Given the description of an element on the screen output the (x, y) to click on. 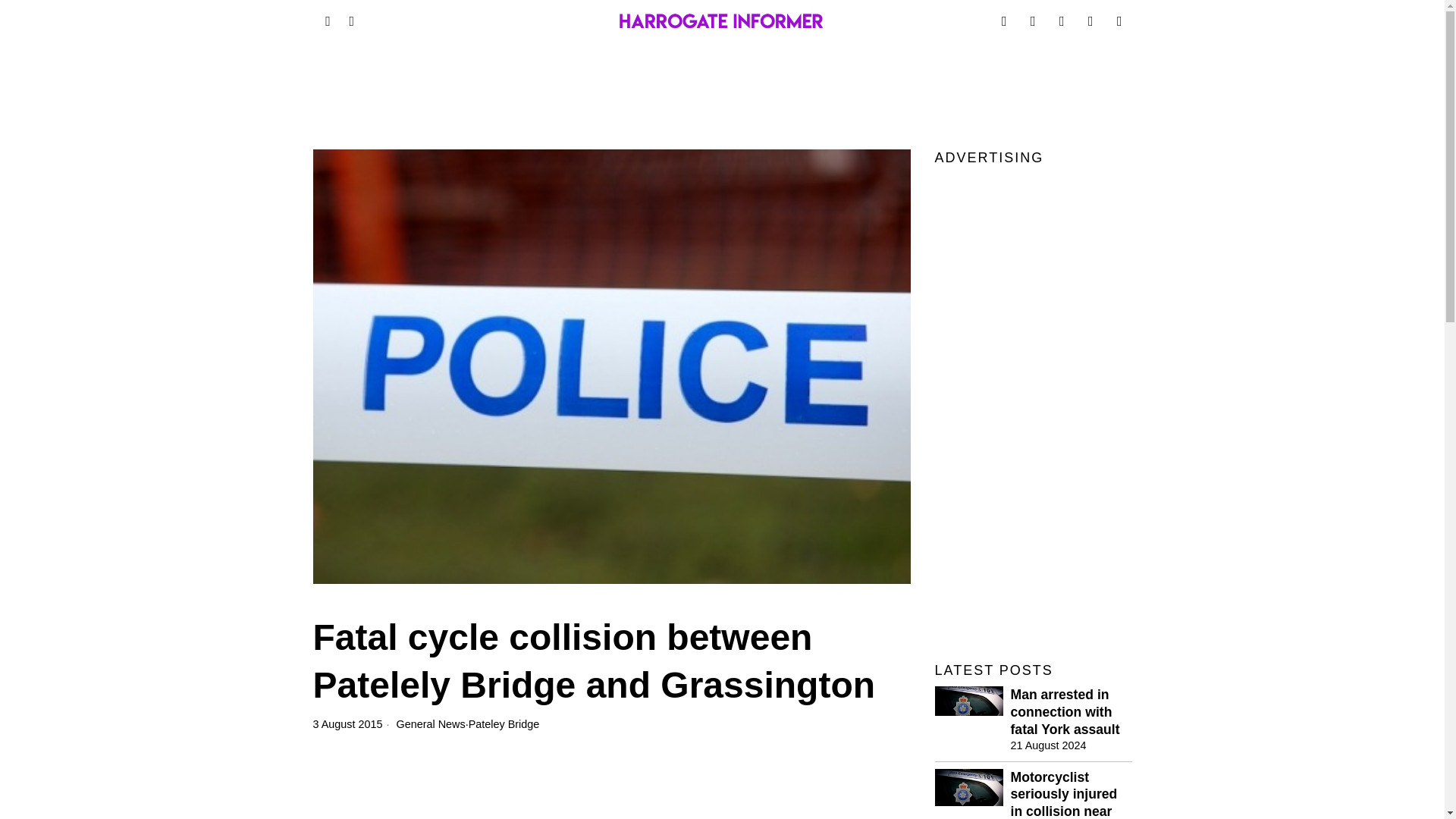
21 Aug, 2024 09:41:12 (1048, 744)
Motorcyclist seriously injured in collision near Harrogate (1070, 794)
Man arrested in connection with fatal York assault (1070, 712)
Pateley Bridge (504, 724)
General News (430, 724)
03 Aug, 2015 09:55:56 (347, 724)
